Given the description of an element on the screen output the (x, y) to click on. 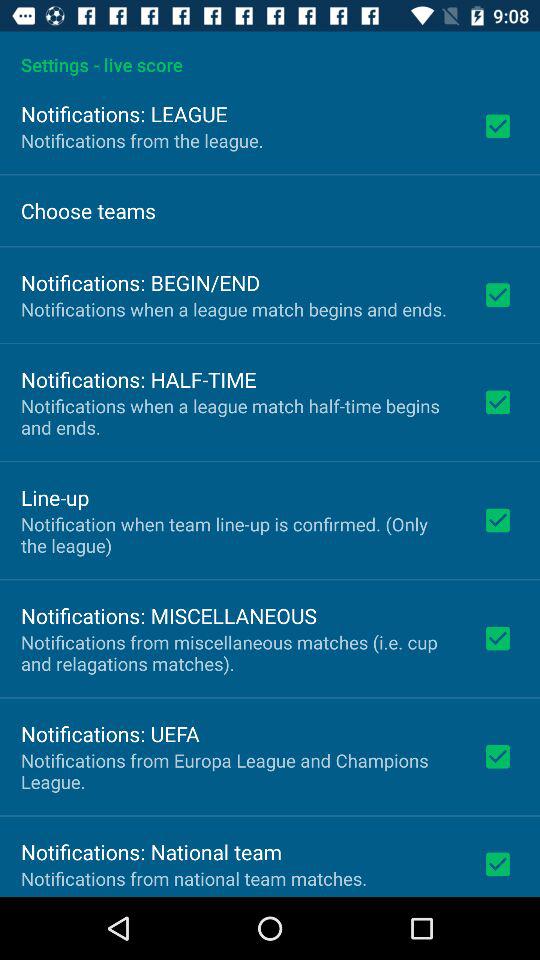
turn off the app above notifications: begin/end item (88, 210)
